Given the description of an element on the screen output the (x, y) to click on. 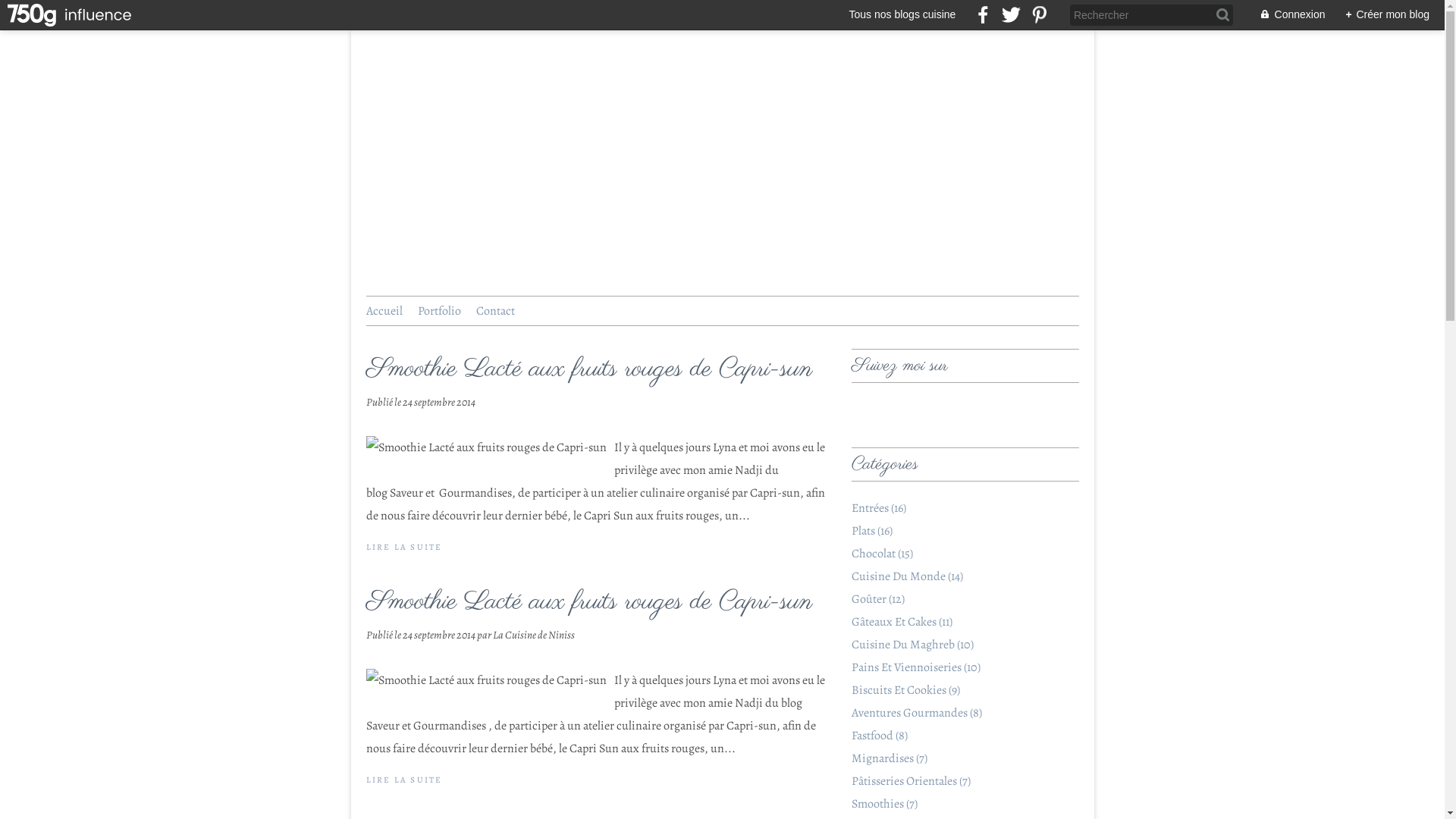
Pains Et Viennoiseries (10) Element type: text (914, 666)
Cuisine Du Monde (14) Element type: text (906, 575)
Plats (16) Element type: text (870, 530)
Pinterest Element type: text (915, 410)
Mignardises (7) Element type: text (888, 757)
Chocolat (15) Element type: text (881, 553)
Tous nos blogs cuisine Element type: text (901, 14)
Connexion Element type: text (1284, 14)
Fastfood (8) Element type: text (878, 735)
Smoothies (7) Element type: text (883, 803)
 pinterest Element type: hover (1038, 14)
Aventures Gourmandes (8) Element type: text (915, 712)
RSS Element type: text (972, 410)
Cuisine Du Maghreb (10) Element type: text (911, 644)
Biscuits Et Cookies (9) Element type: text (904, 689)
Facebook Element type: text (859, 410)
Instagram Element type: text (888, 410)
Contact Element type: text (495, 310)
LIRE LA SUITE Element type: text (403, 779)
 facebook Element type: hover (982, 14)
LIRE LA SUITE Element type: text (403, 546)
Google+ Element type: text (944, 410)
Accueil Element type: text (383, 310)
Portfolio Element type: text (438, 310)
 twitter Element type: hover (1010, 14)
